Given the description of an element on the screen output the (x, y) to click on. 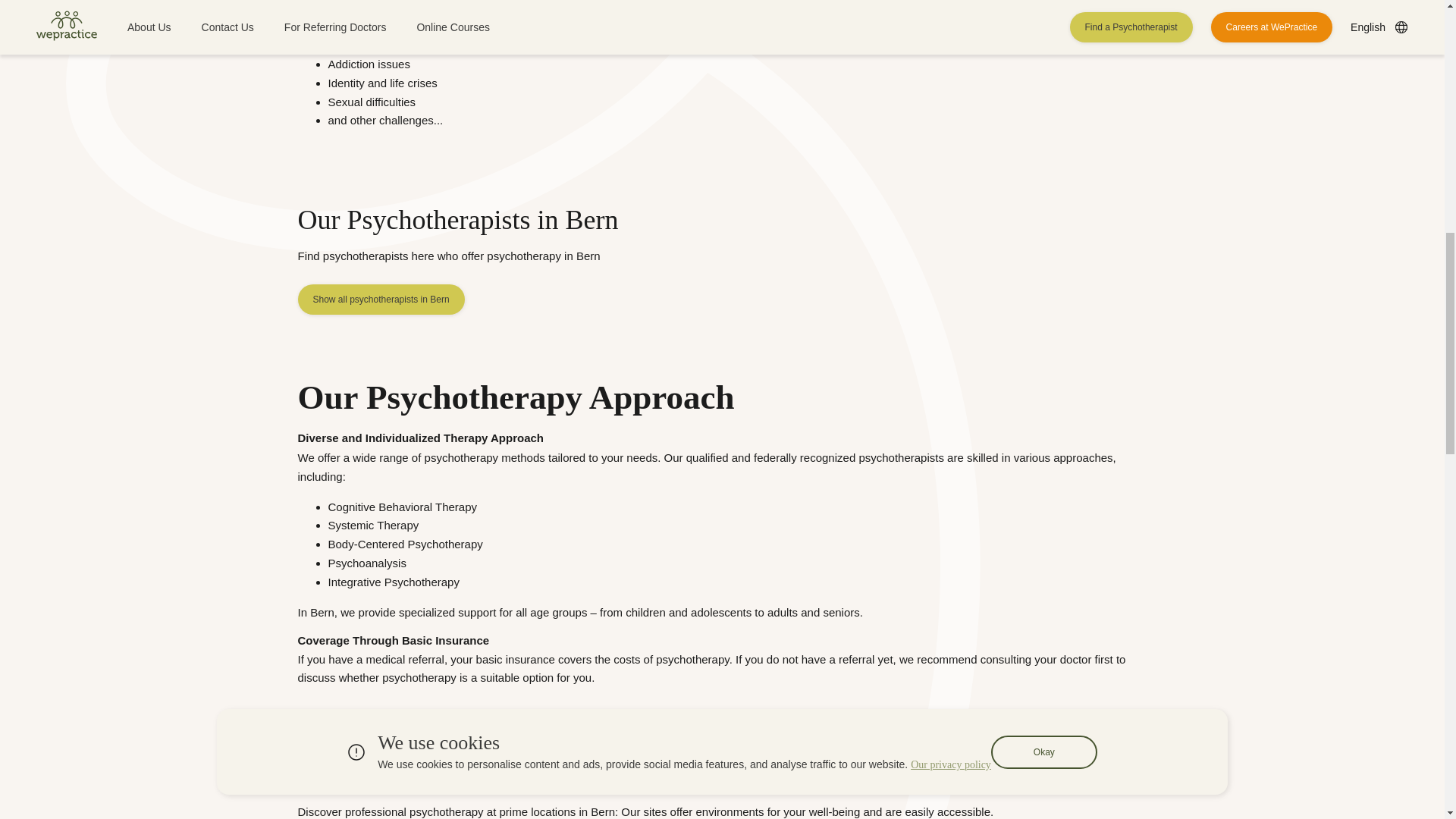
Show all psychotherapists in Bern (380, 299)
